Given the description of an element on the screen output the (x, y) to click on. 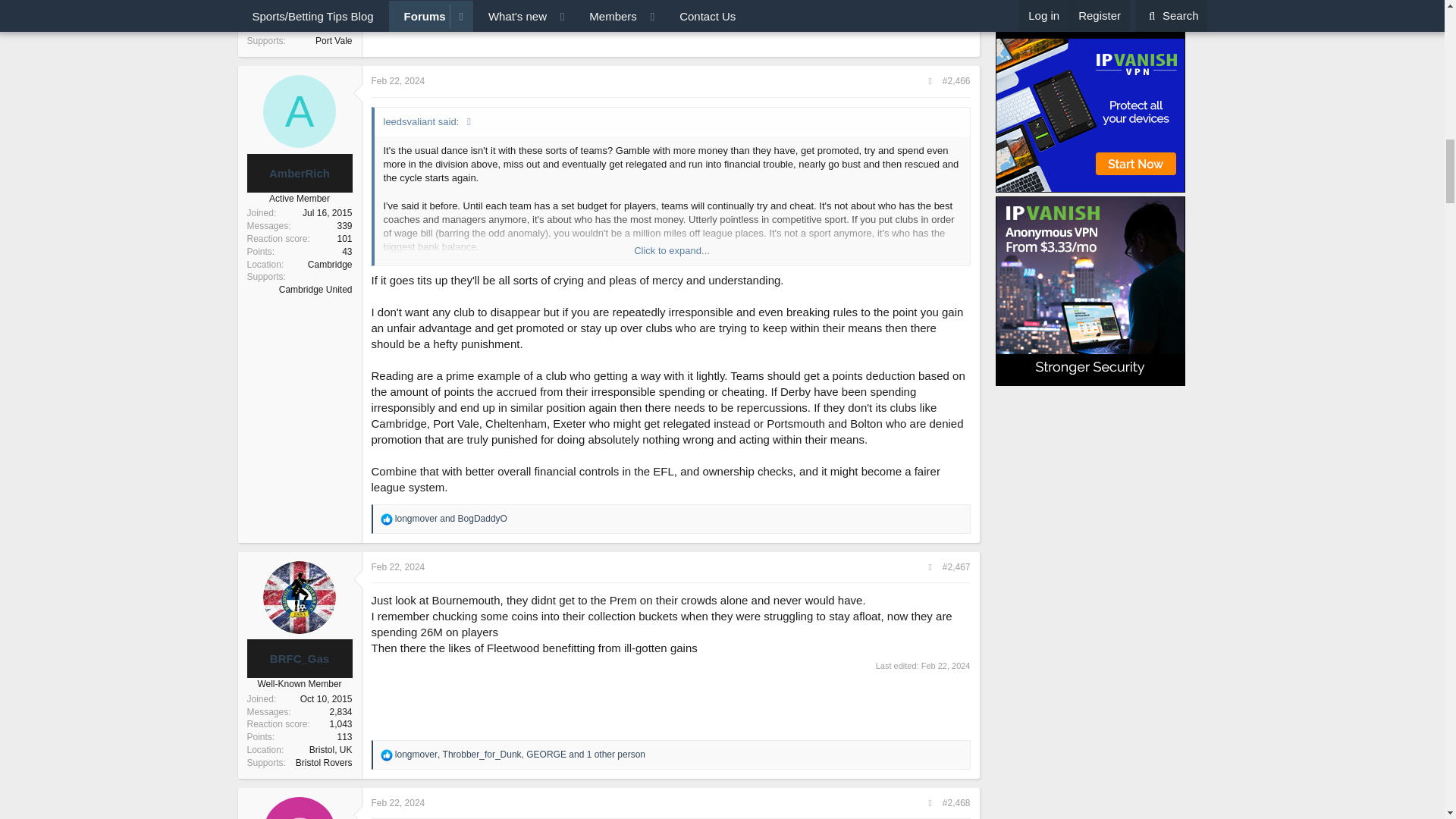
Feb 22, 2024 at 1:17 PM (398, 566)
Like (386, 519)
Feb 22, 2024 at 1:16 PM (398, 81)
